Given the description of an element on the screen output the (x, y) to click on. 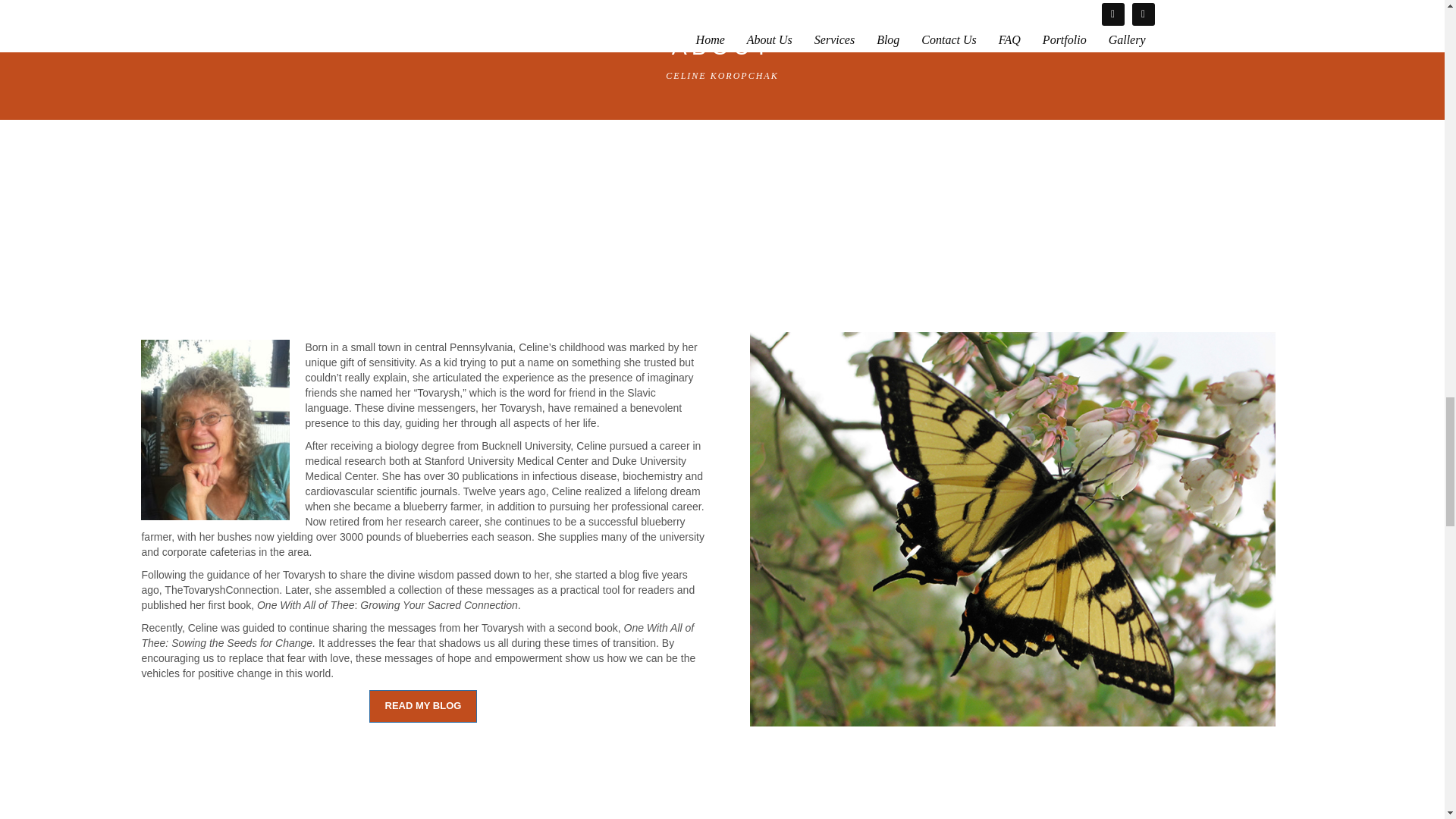
READ MY BLOG (423, 706)
READ MY BLOG (423, 706)
